Given the description of an element on the screen output the (x, y) to click on. 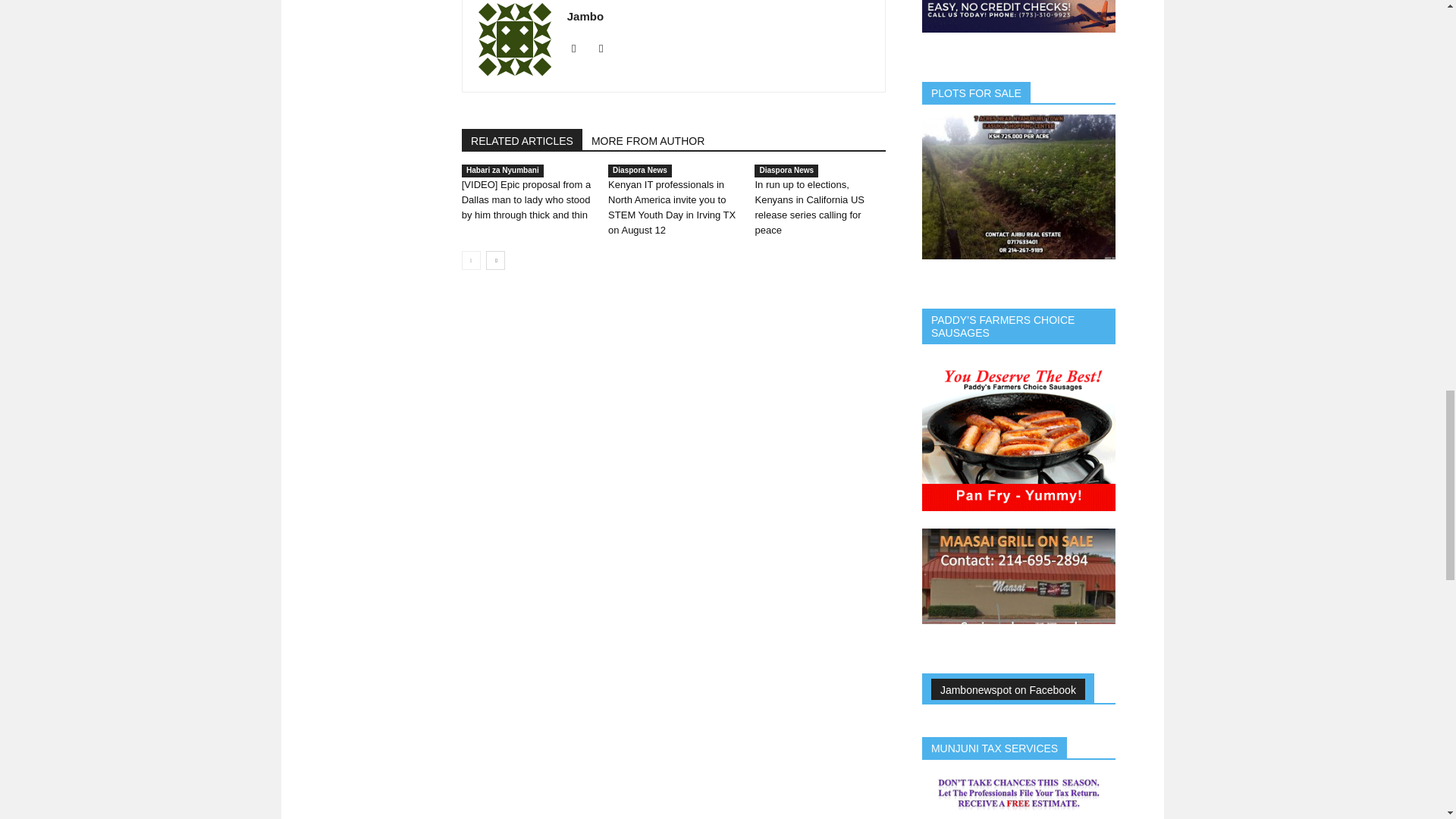
Twitter (607, 48)
Facebook (579, 48)
